Given the description of an element on the screen output the (x, y) to click on. 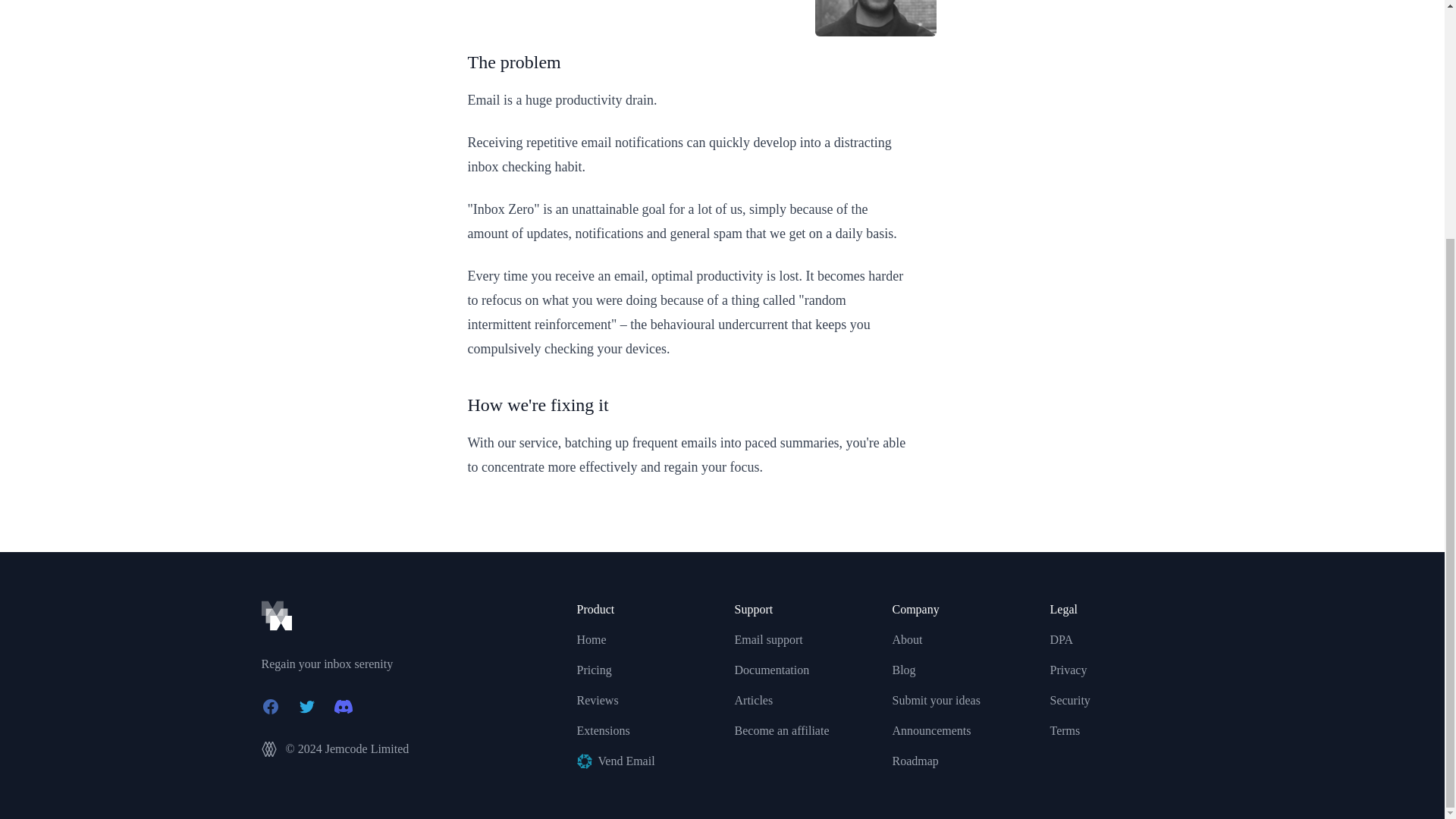
Extensions (602, 730)
Home (590, 639)
About (906, 639)
Terms (1064, 730)
Submit your ideas (935, 699)
Discord (342, 706)
Reviews (596, 699)
Pricing (593, 669)
Jemcode Limited (366, 748)
Twitter (306, 706)
